Given the description of an element on the screen output the (x, y) to click on. 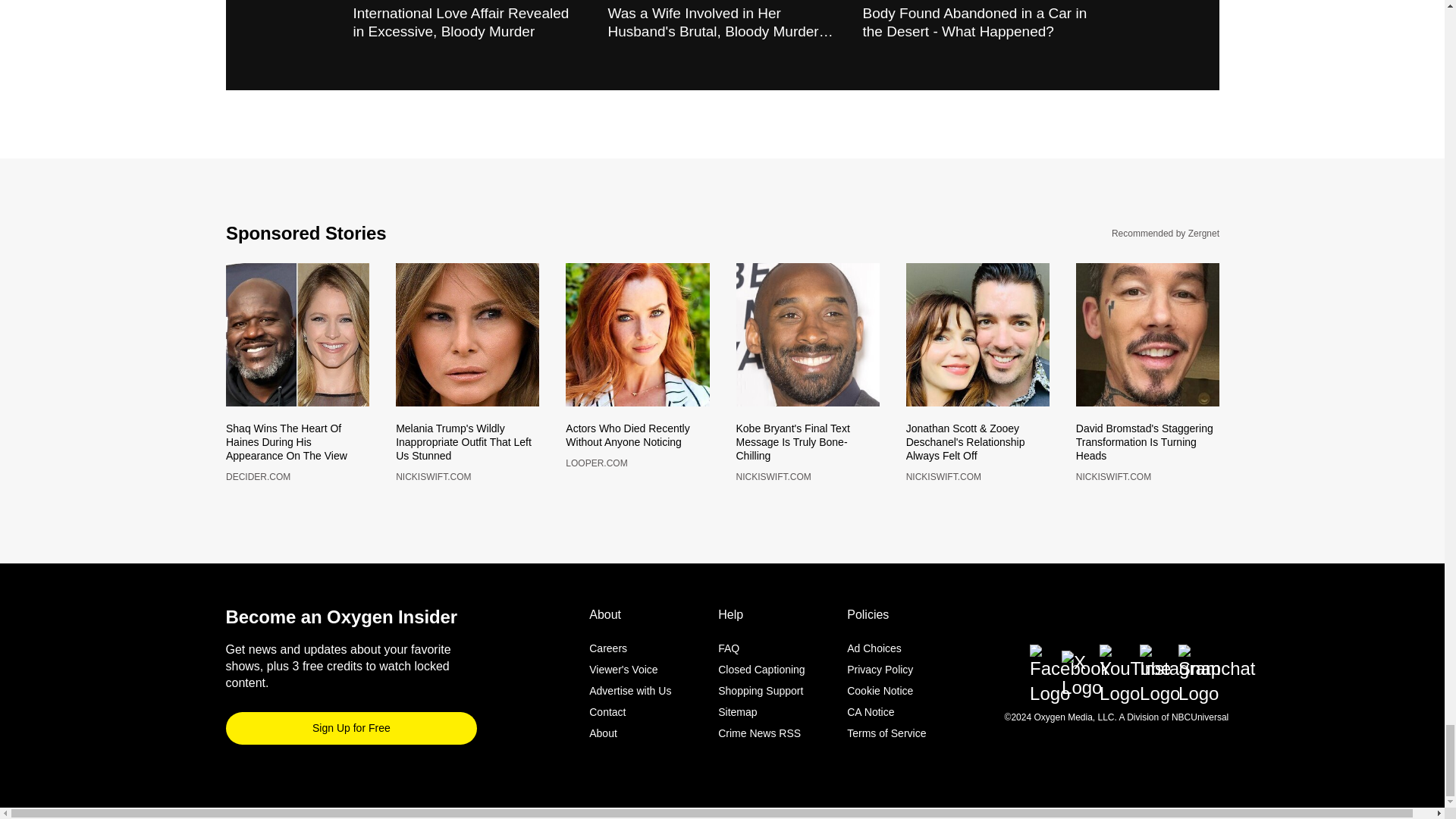
Advertise with Us (630, 684)
